Given the description of an element on the screen output the (x, y) to click on. 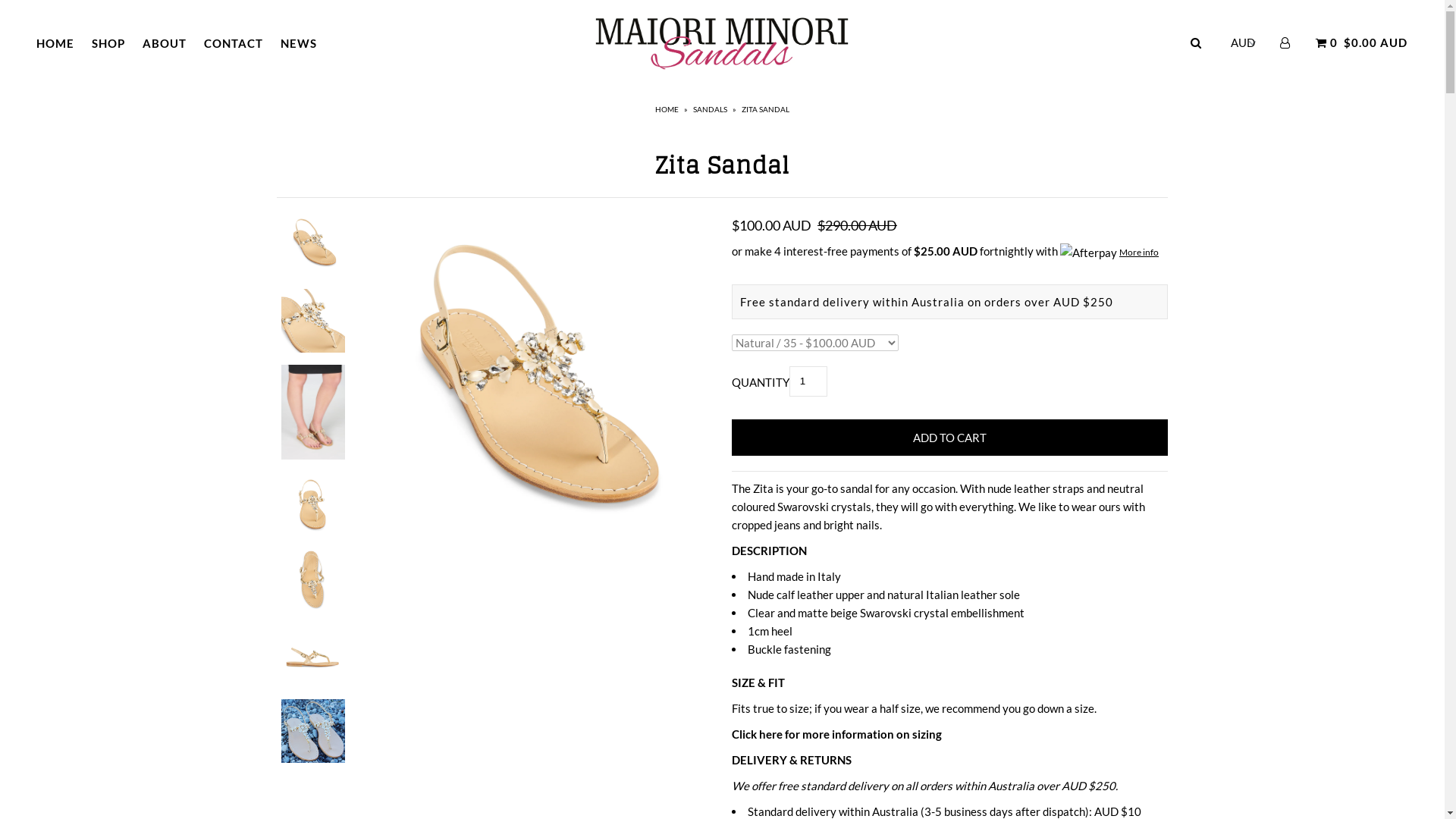
Click here for more information on sizing Element type: text (836, 733)
CONTACT Element type: text (233, 43)
SHOP Element type: text (108, 43)
Zita Sandal Element type: hover (531, 390)
  0  $0.00 AUD Element type: text (1360, 42)
ADD TO CART Element type: text (949, 437)
HOME Element type: text (54, 43)
More info Element type: text (1109, 251)
NEWS Element type: text (298, 43)
ABOUT Element type: text (164, 43)
HOME Element type: text (668, 108)
SANDALS Element type: text (712, 108)
